Given the description of an element on the screen output the (x, y) to click on. 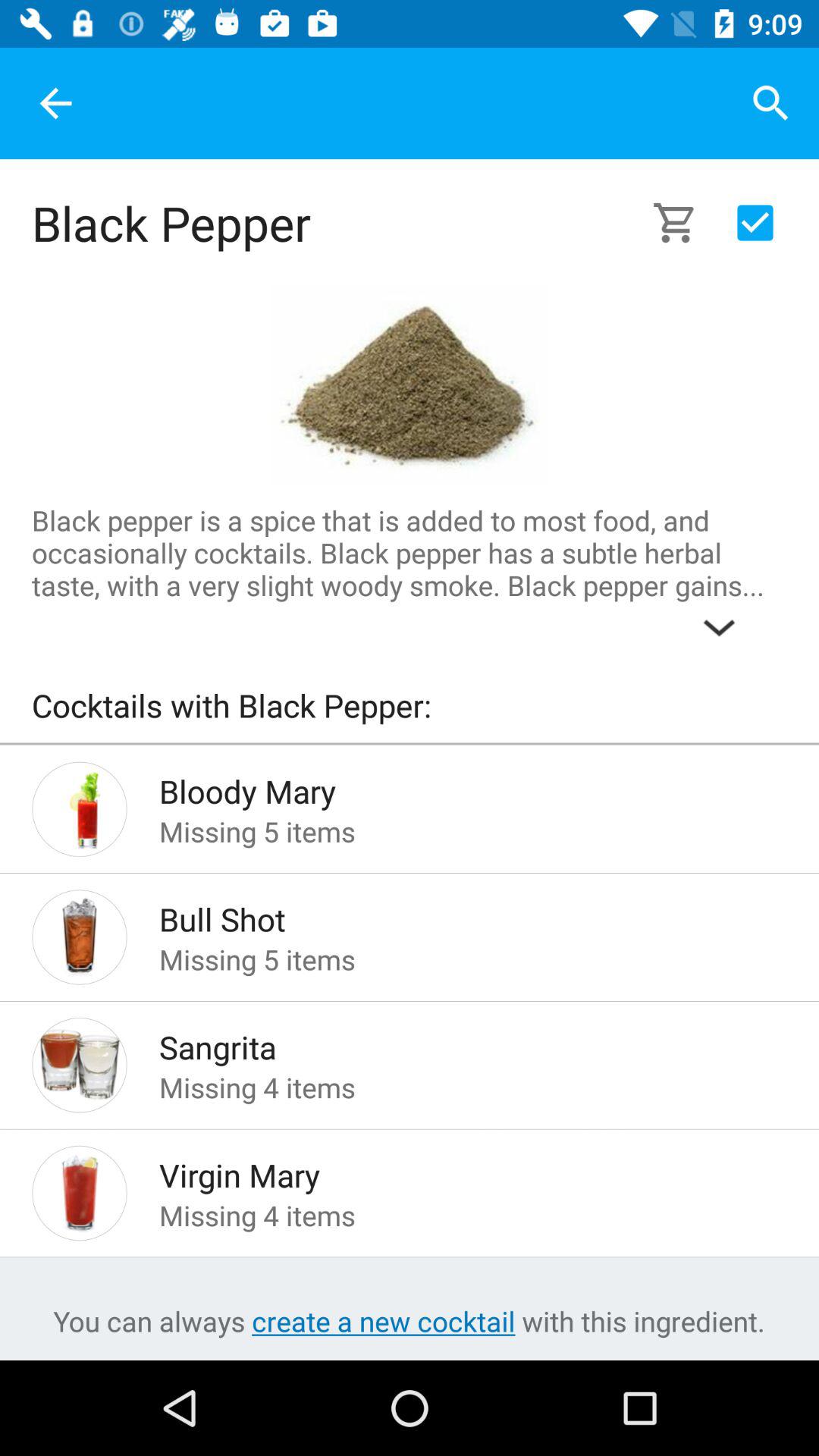
swipe until the virgin mary (449, 1170)
